Given the description of an element on the screen output the (x, y) to click on. 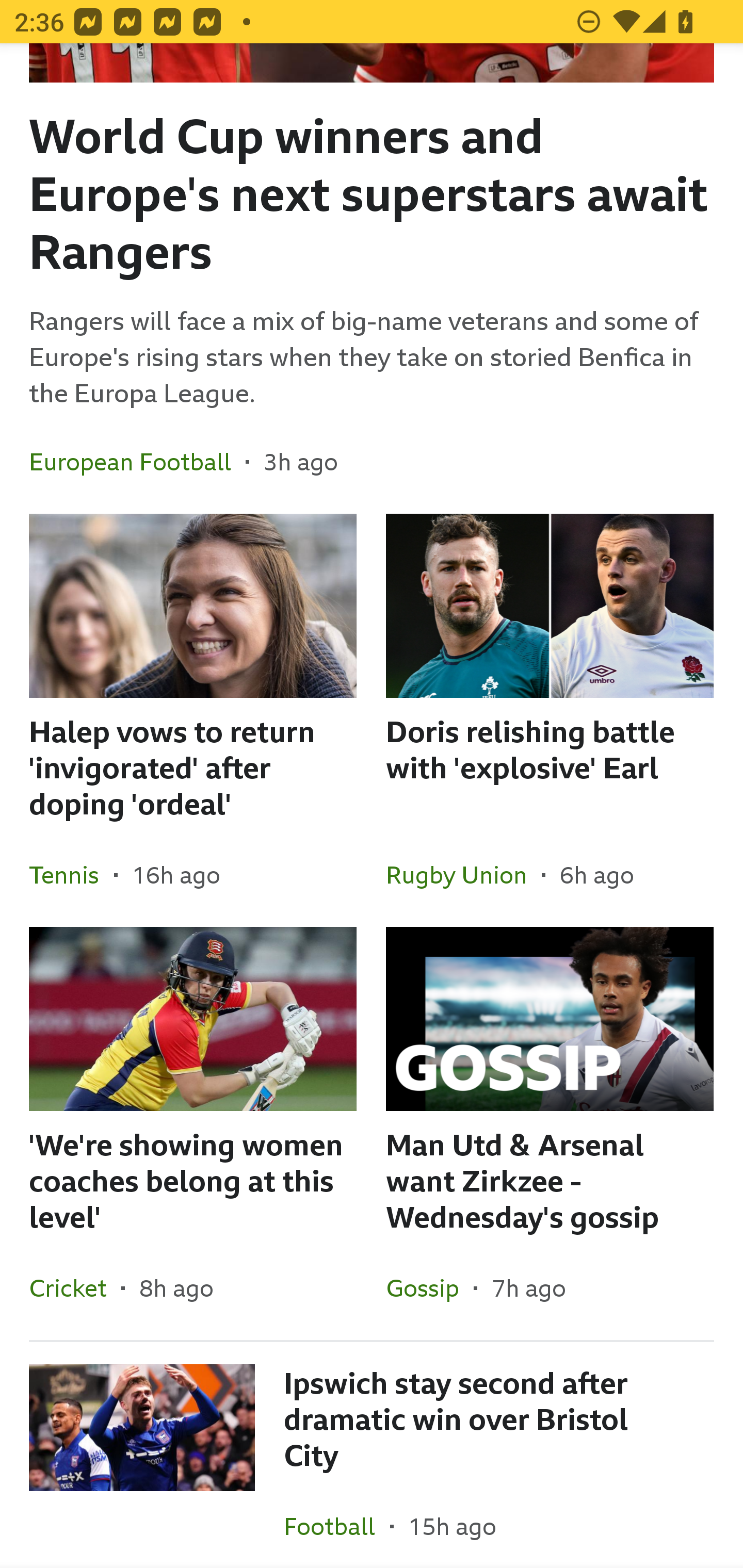
European Football In the section European Football (136, 461)
Tennis In the section Tennis (70, 874)
Rugby Union In the section Rugby Union (463, 874)
Cricket In the section Cricket (74, 1287)
Football In the section Football (336, 1520)
